Given the description of an element on the screen output the (x, y) to click on. 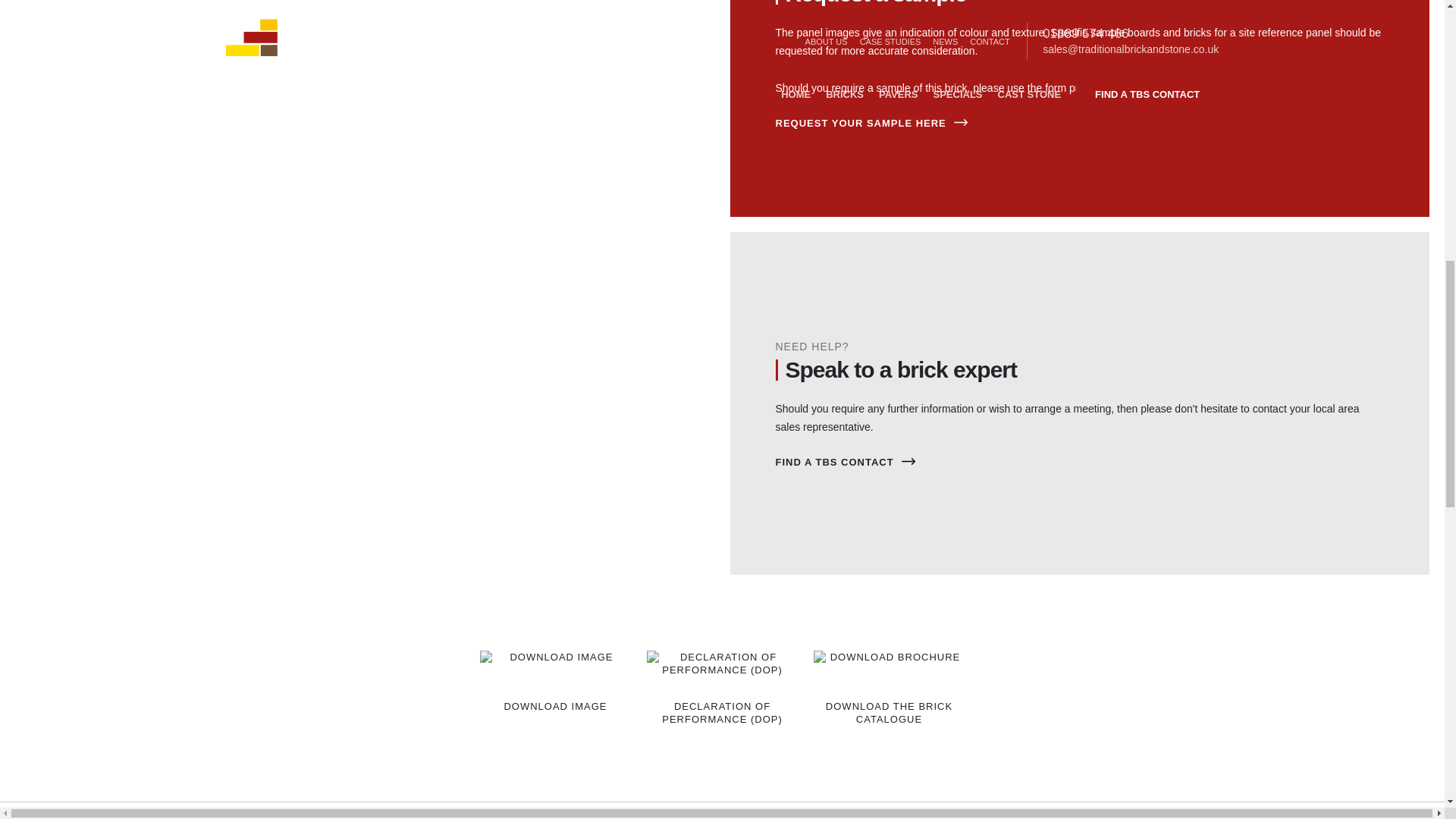
DOWNLOAD IMAGE (554, 681)
REQUEST YOUR SAMPLE HERE (1079, 123)
FIND A TBS CONTACT (1079, 462)
DOWNLOAD THE BRICK CATALOGUE (887, 687)
